Given the description of an element on the screen output the (x, y) to click on. 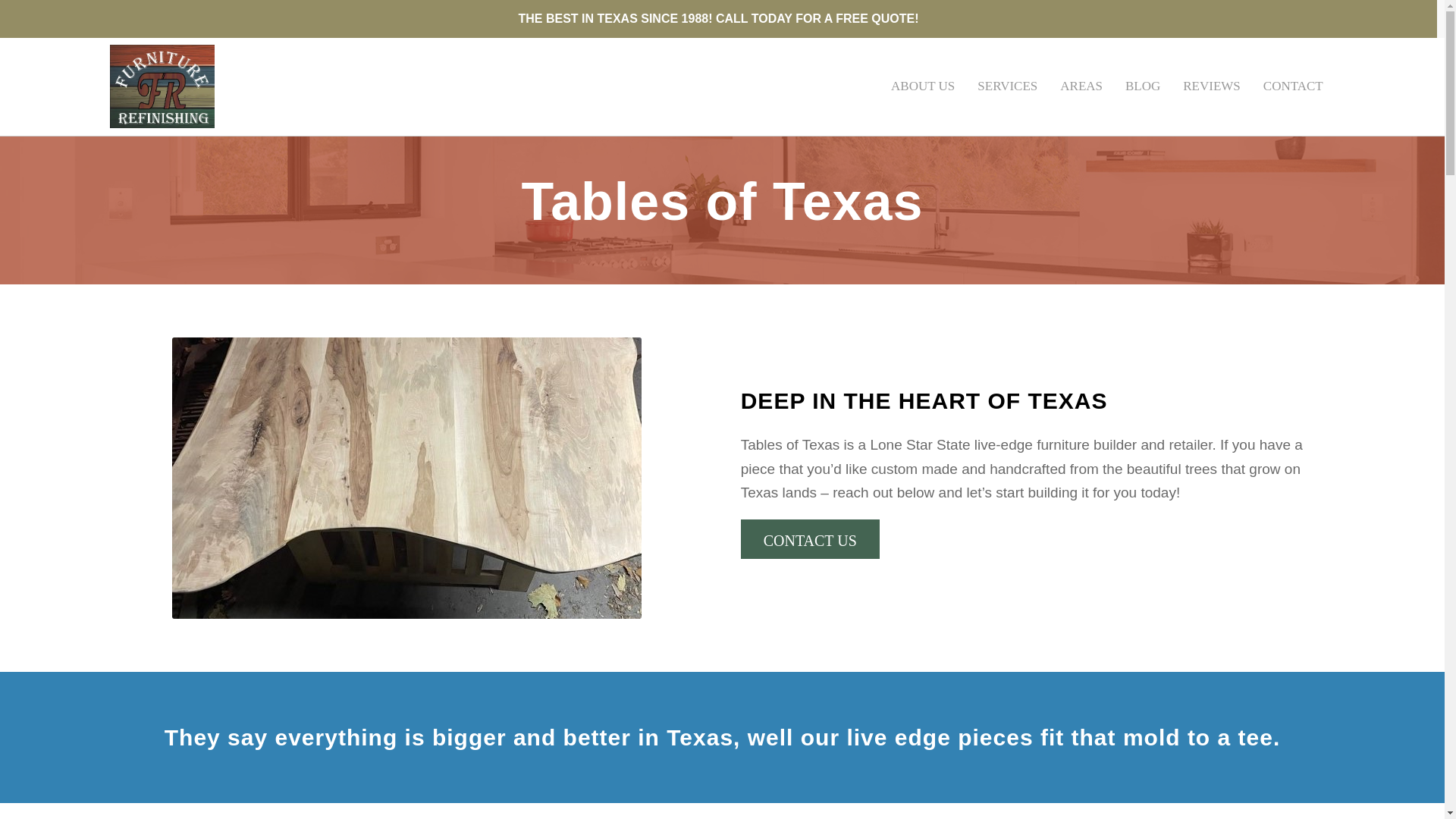
THE BEST IN TEXAS SINCE 1988! CALL TODAY FOR A FREE QUOTE! (718, 18)
Wooden Table (406, 478)
Furniture FR Refinishing Logo (162, 86)
CONTACT US (810, 539)
